Given the description of an element on the screen output the (x, y) to click on. 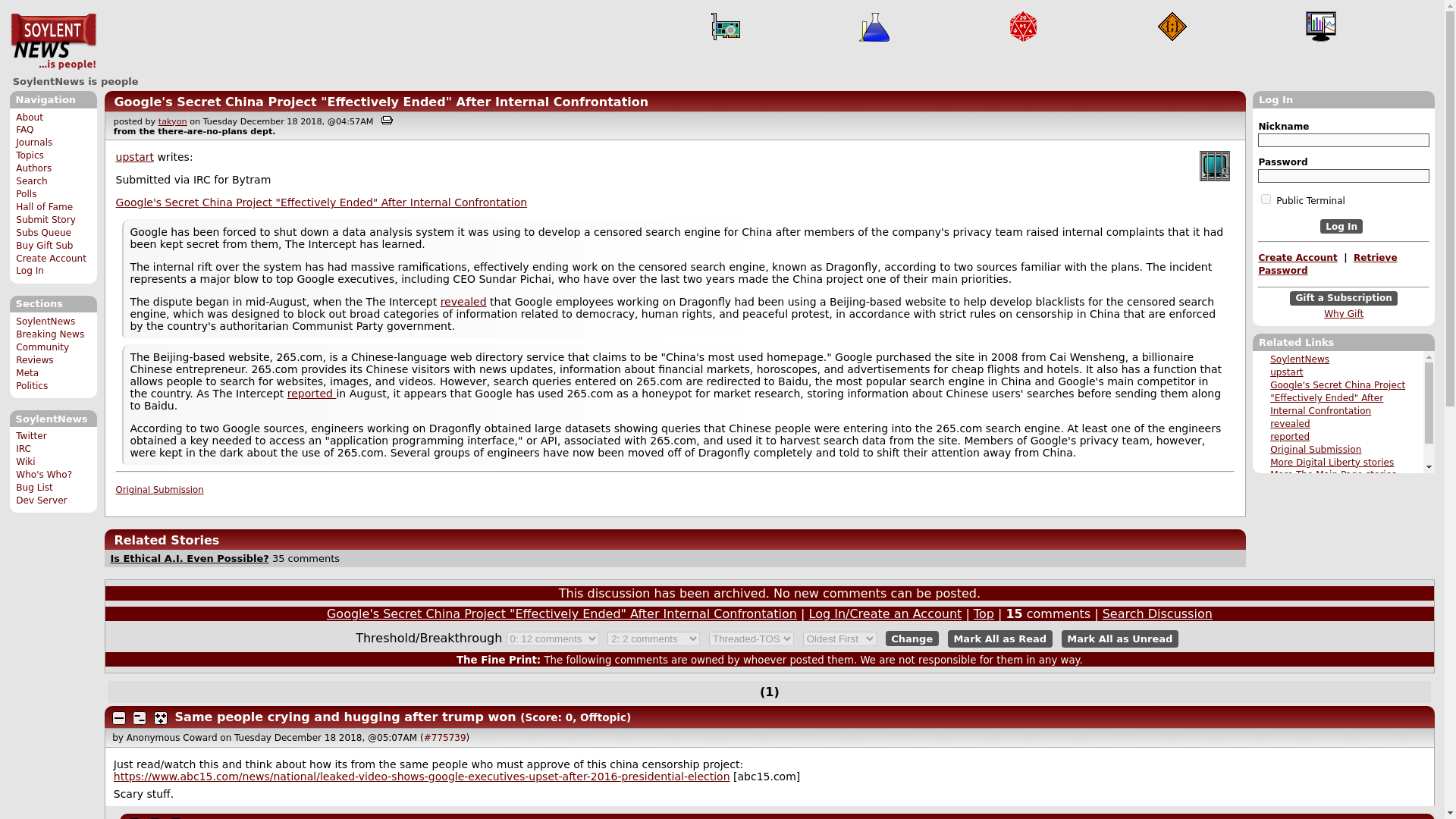
Log In (1341, 226)
SoylentNews (1299, 358)
upstart (1286, 371)
Create Account (50, 258)
Log In (29, 270)
Submit Story (45, 219)
Community Reviews (42, 353)
IRC (23, 448)
About (29, 117)
Log In (1341, 226)
